Given the description of an element on the screen output the (x, y) to click on. 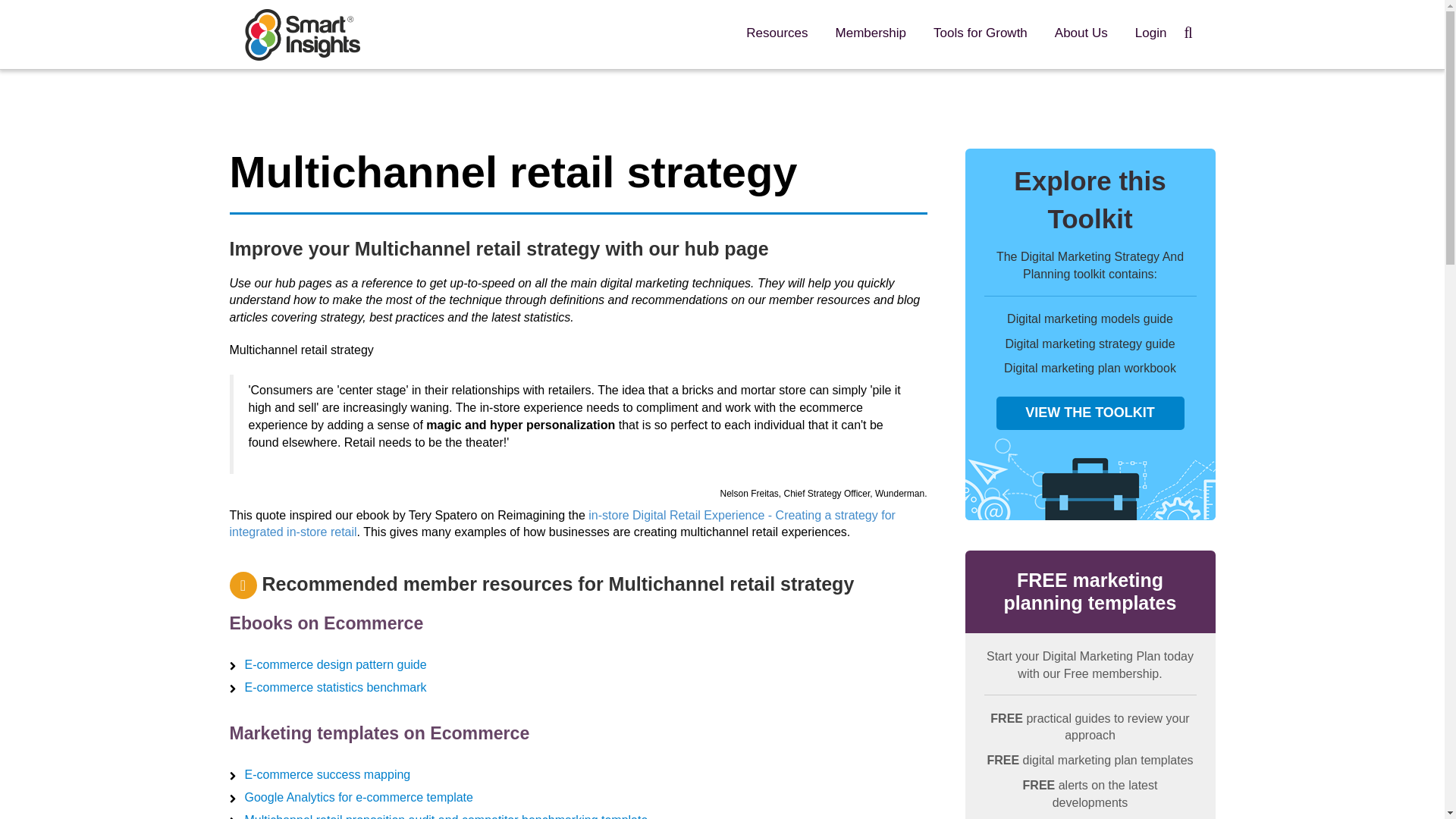
Tools for Growth (979, 32)
Resources (776, 32)
Login (1150, 32)
Membership (871, 32)
About Us (1081, 32)
